Given the description of an element on the screen output the (x, y) to click on. 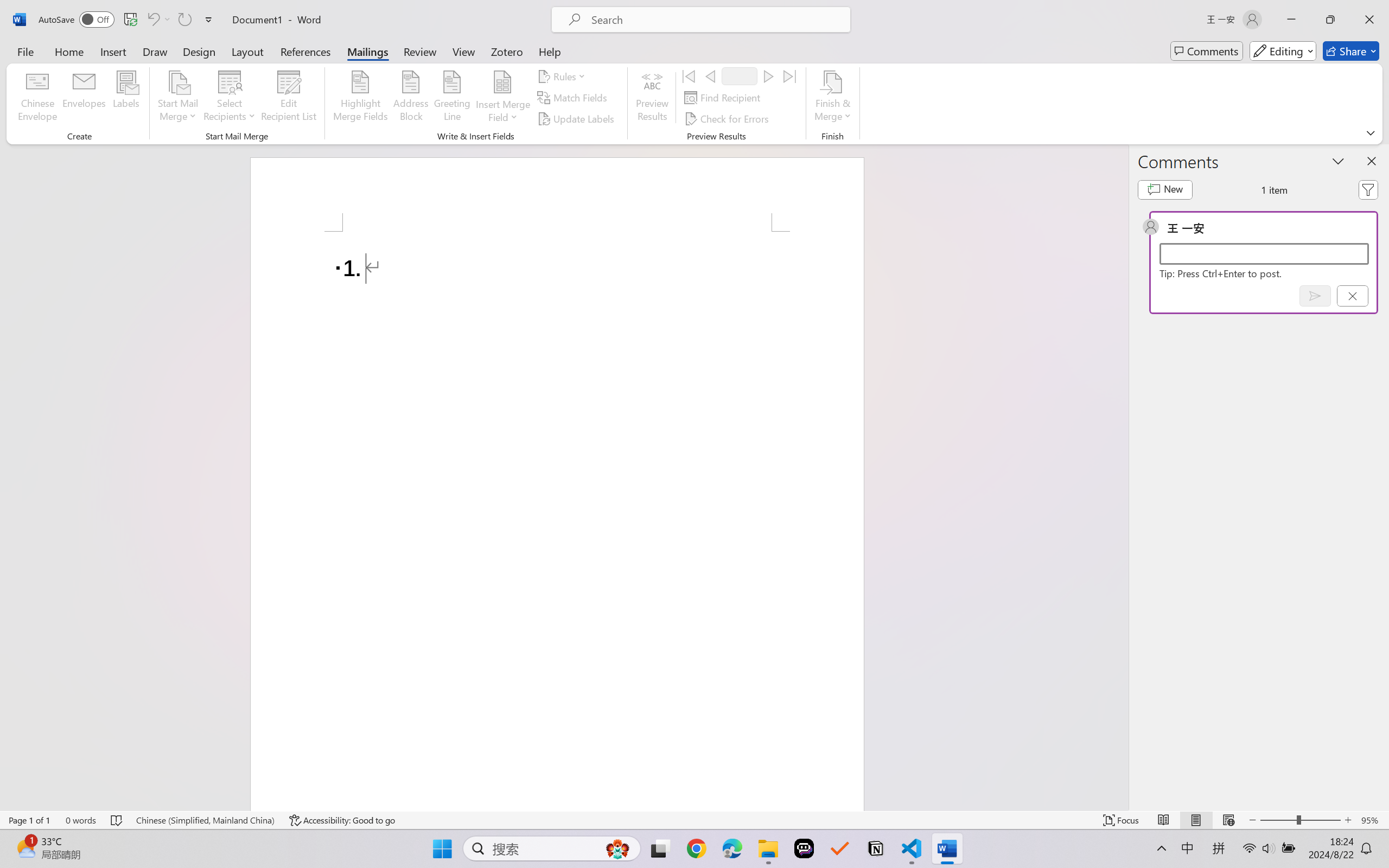
Italic (186, 71)
Shape Effects (668, 74)
Strikethrough (225, 71)
Select (727, 74)
Decrease Indent (380, 52)
Font... (319, 91)
Shape Outline Green, Accent 1 (644, 60)
Oval (572, 48)
